Given the description of an element on the screen output the (x, y) to click on. 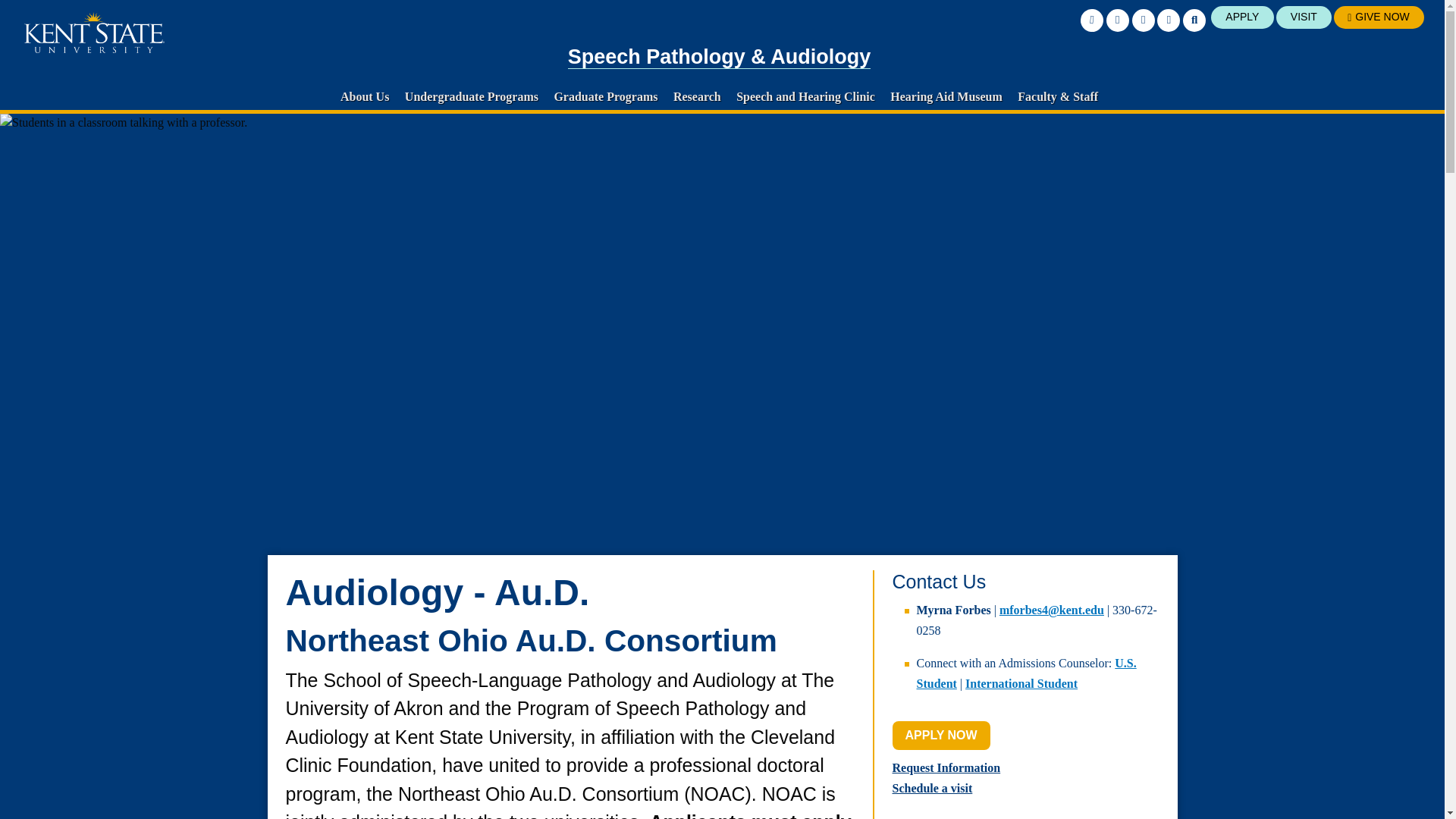
GIVE NOW (1378, 16)
APPLY (1241, 16)
Kent State University logo (94, 32)
About Us (364, 96)
VISIT (1304, 16)
